Given the description of an element on the screen output the (x, y) to click on. 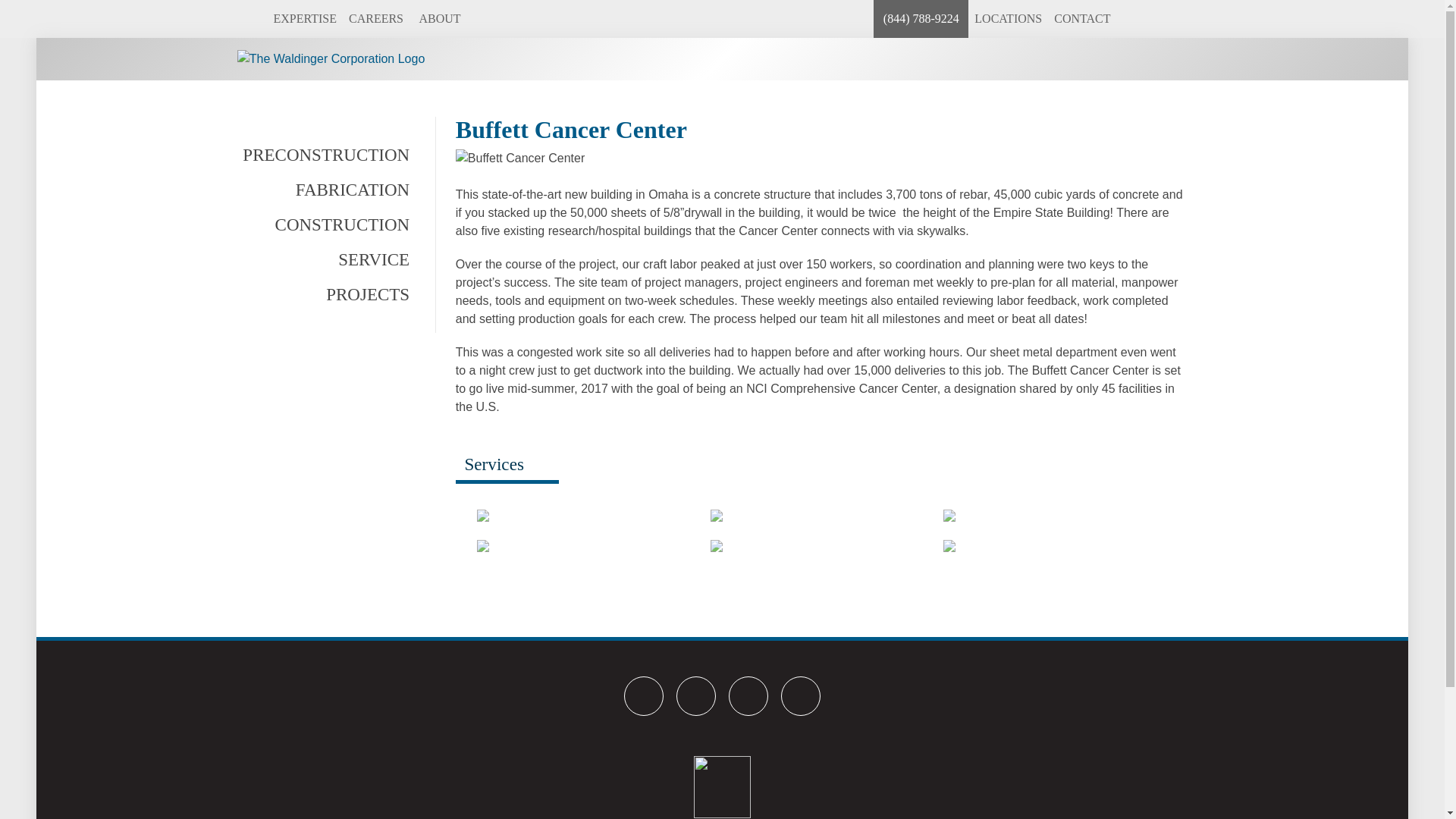
PRECONSTRUCTION (322, 155)
SERVICE (322, 259)
Buffett Cancer Center (820, 158)
CONTACT (1082, 18)
EXPERTISE (304, 18)
CAREERS (375, 18)
FABRICATION (322, 190)
ABOUT (439, 18)
CONSTRUCTION (322, 225)
LOCATIONS (1008, 18)
